Given the description of an element on the screen output the (x, y) to click on. 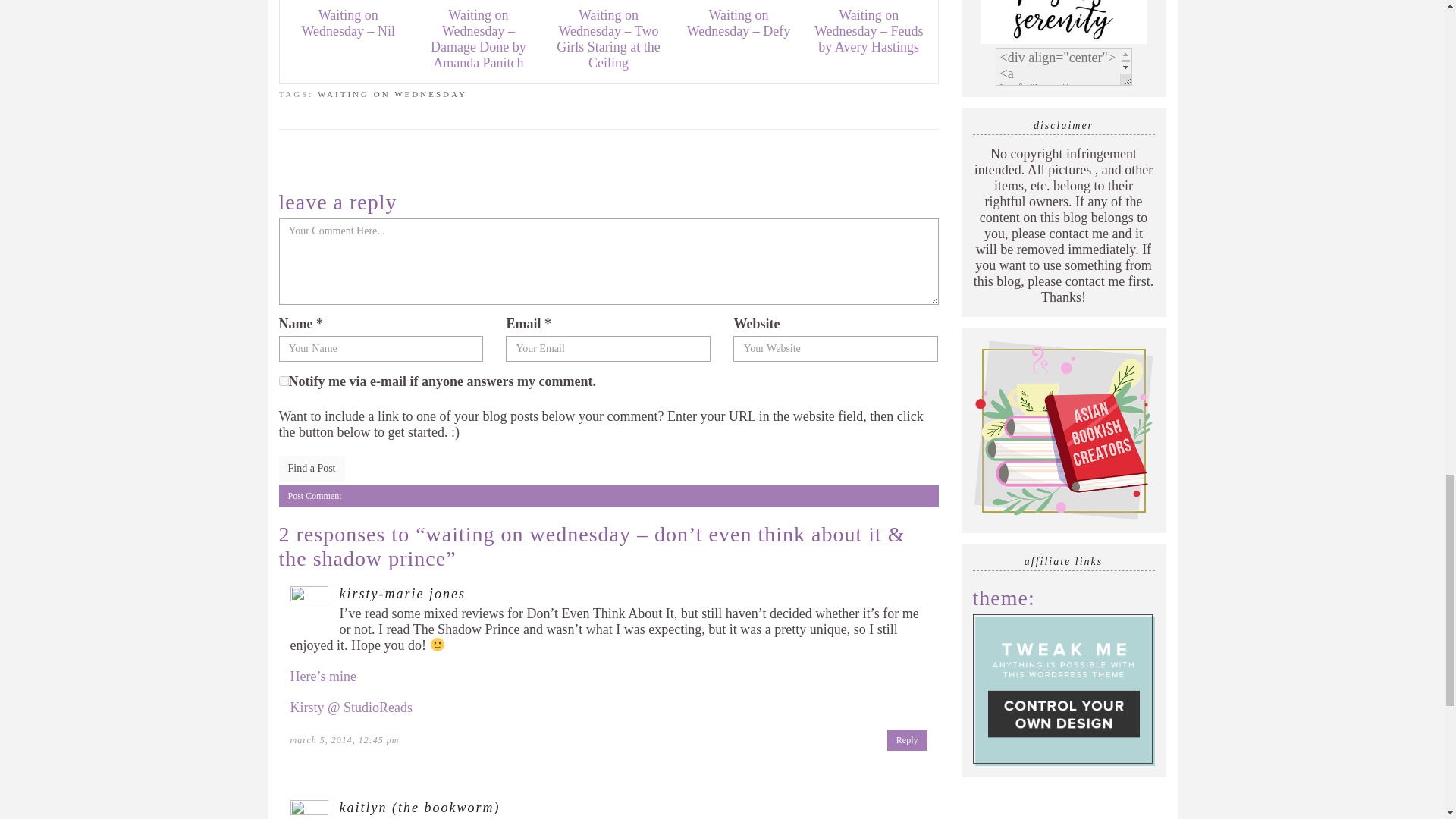
Paging Serenity Button (1063, 22)
Post Comment (609, 495)
on (283, 380)
Tweak Me - Anything is possible with this WordPress theme (1063, 688)
